Given the description of an element on the screen output the (x, y) to click on. 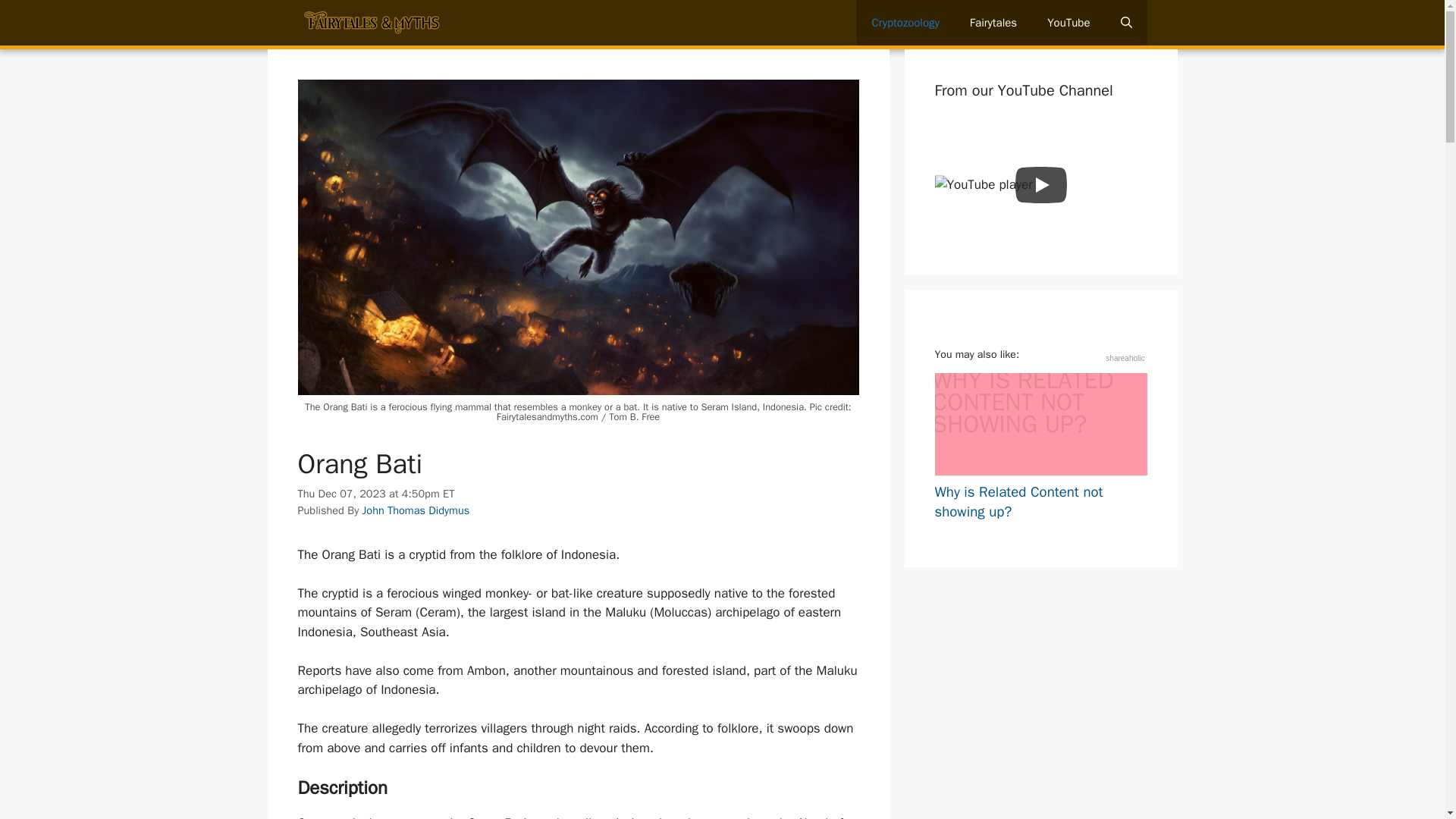
YouTube (1068, 22)
View all posts by John Thomas Didymus (416, 509)
Fairy Tales and Myths (372, 22)
Fairytales (993, 22)
John Thomas Didymus (416, 509)
Cryptozoology (906, 22)
